Given the description of an element on the screen output the (x, y) to click on. 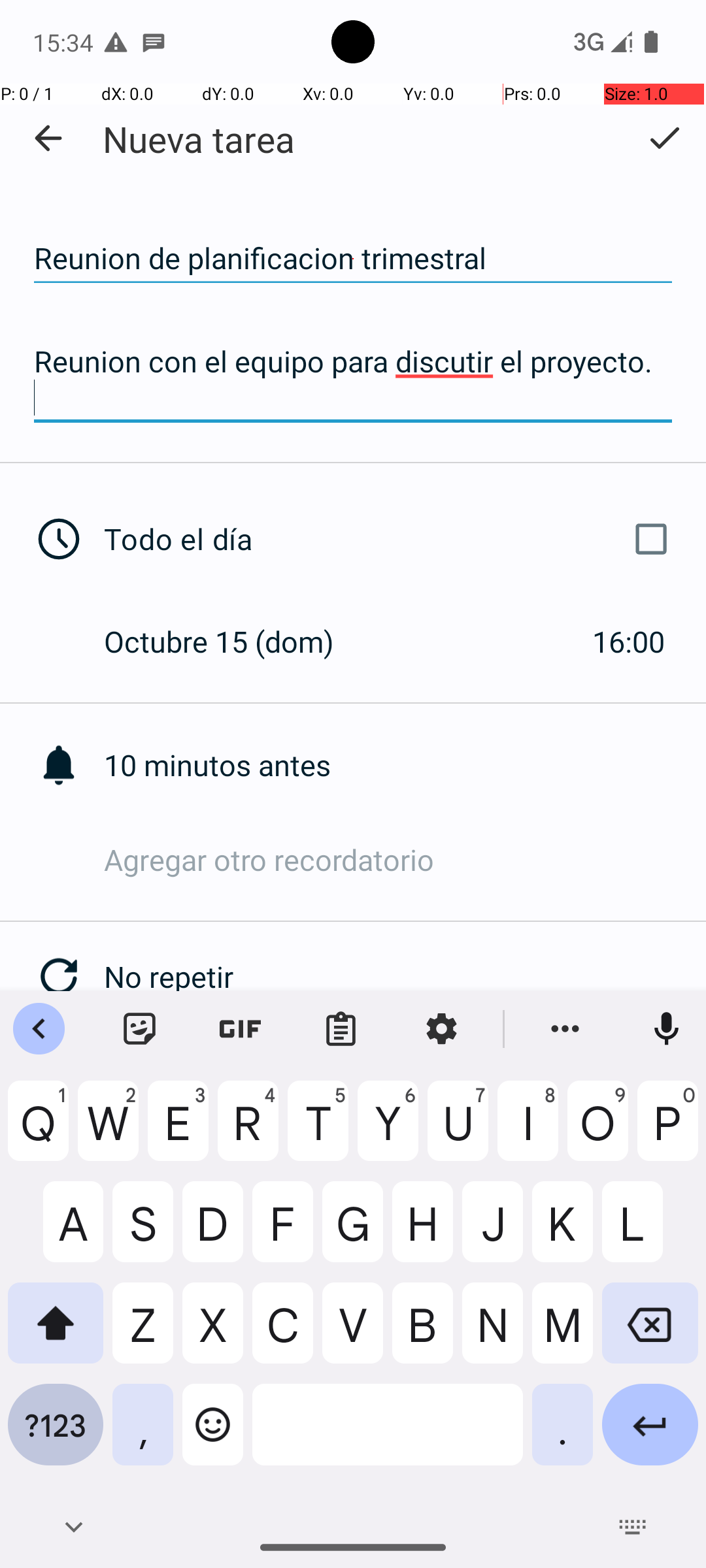
Nueva tarea Element type: android.widget.TextView (198, 138)
Guardar Element type: android.widget.Button (664, 137)
Reunion de planificacion trimestral Element type: android.widget.EditText (352, 258)
Reunion con el equipo para discutir el proyecto.
 Element type: android.widget.EditText (352, 379)
Octubre 15 (dom) Element type: android.widget.TextView (232, 640)
16:00 Element type: android.widget.TextView (628, 640)
10 minutos antes Element type: android.widget.TextView (404, 764)
Agregar otro recordatorio Element type: android.widget.TextView (404, 859)
No repetir Element type: android.widget.TextView (404, 976)
Todo el día Element type: android.widget.CheckBox (390, 538)
